Given the description of an element on the screen output the (x, y) to click on. 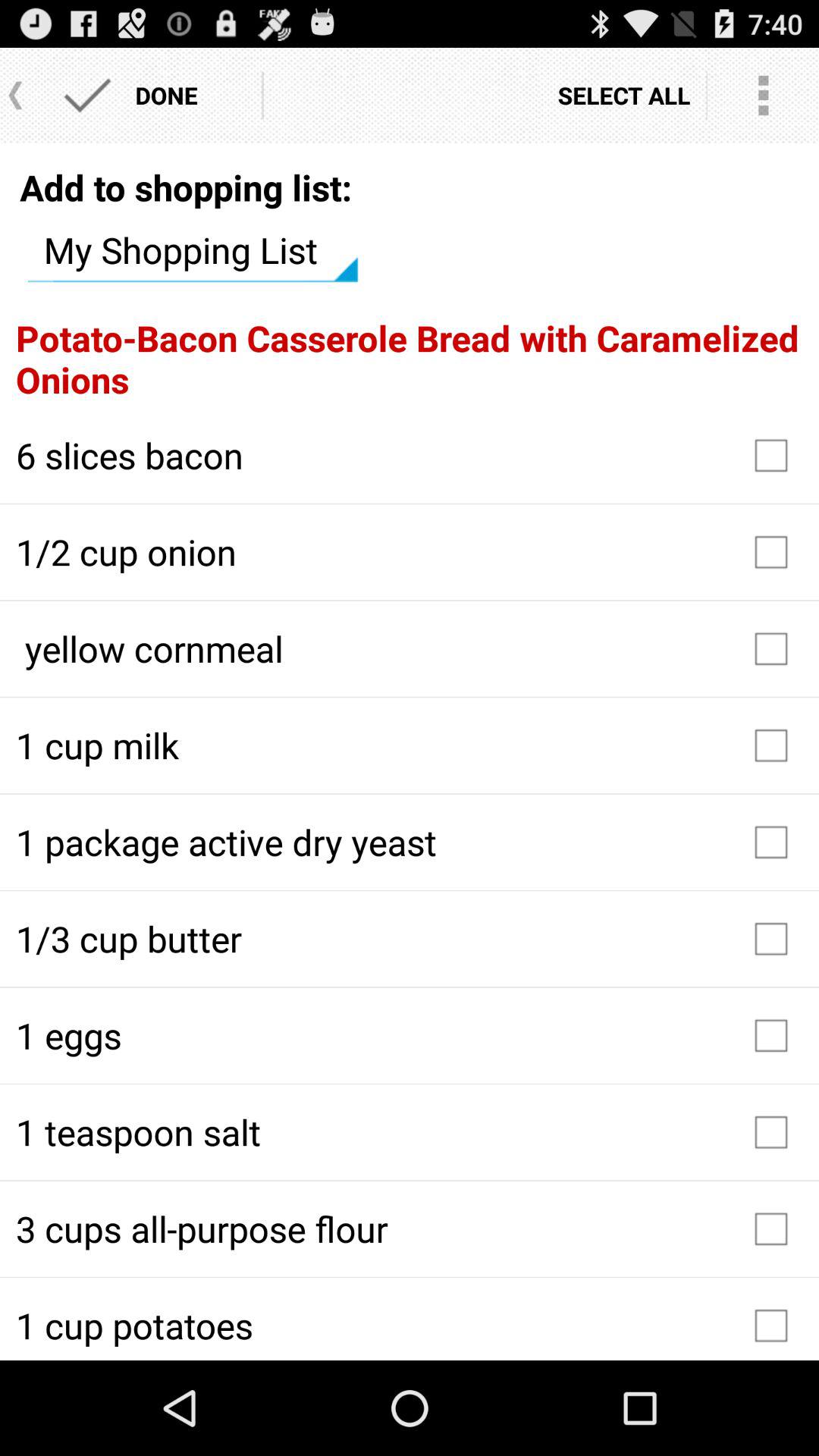
choose 1 teaspoon salt icon (409, 1132)
